Given the description of an element on the screen output the (x, y) to click on. 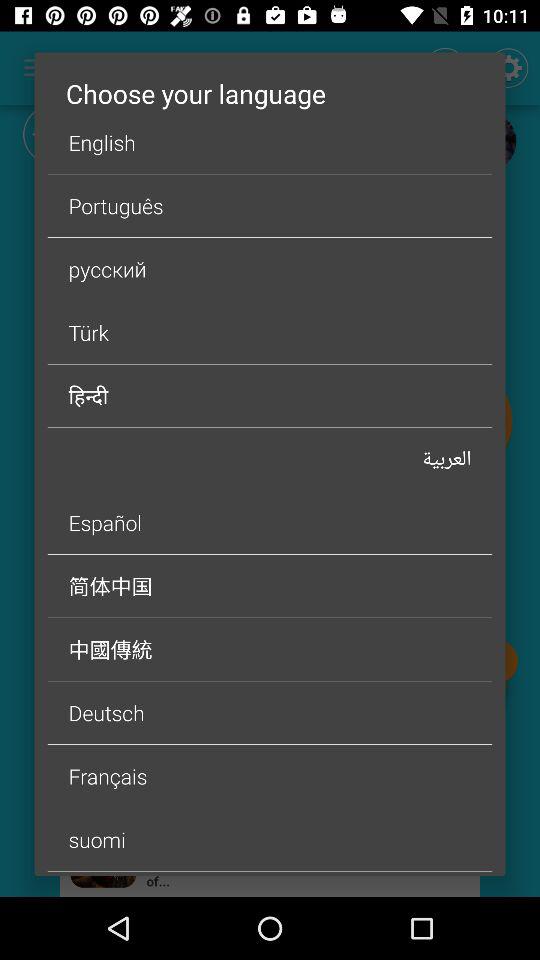
click the deutsch icon (269, 712)
